Given the description of an element on the screen output the (x, y) to click on. 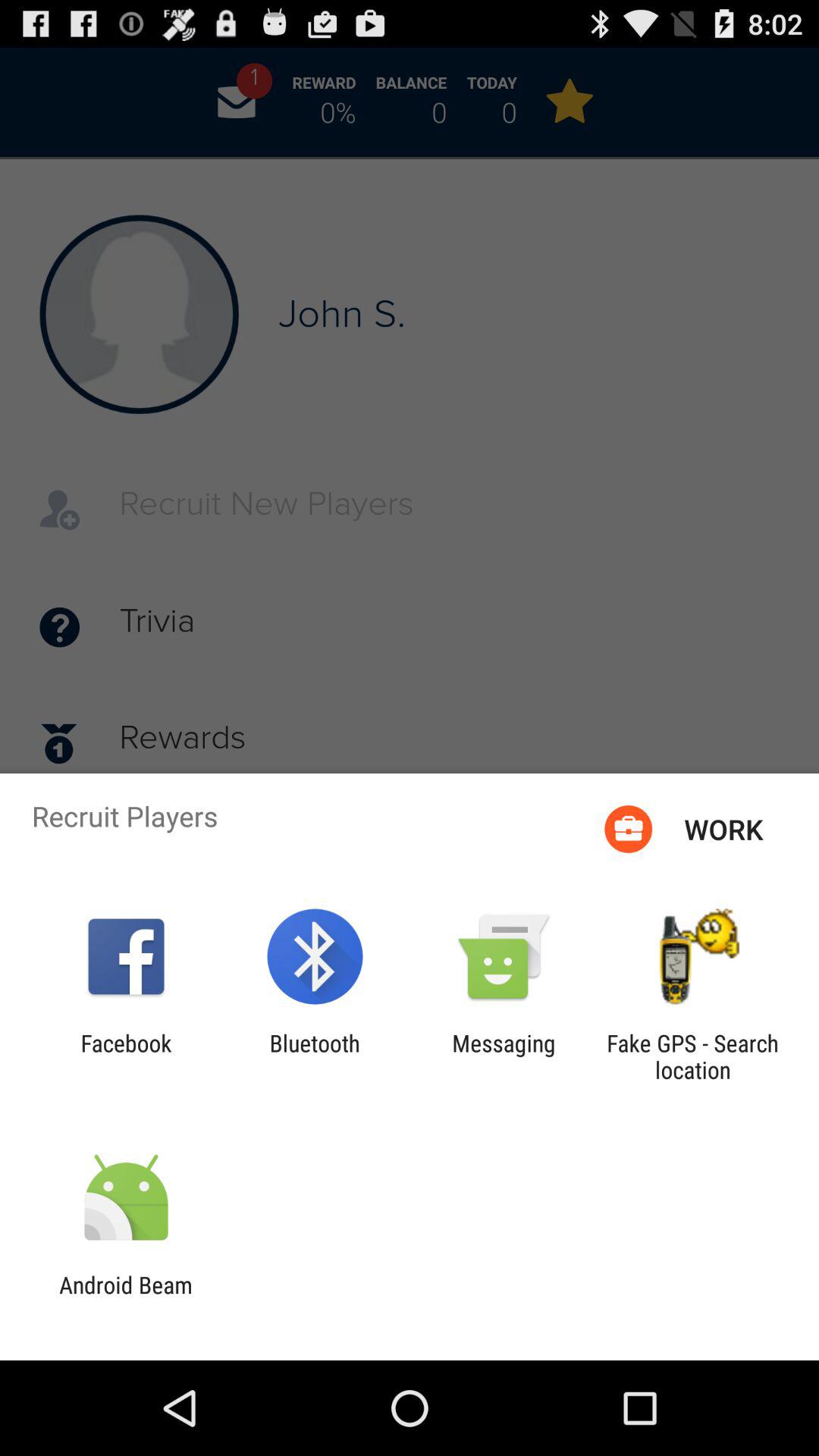
jump until facebook item (125, 1056)
